Given the description of an element on the screen output the (x, y) to click on. 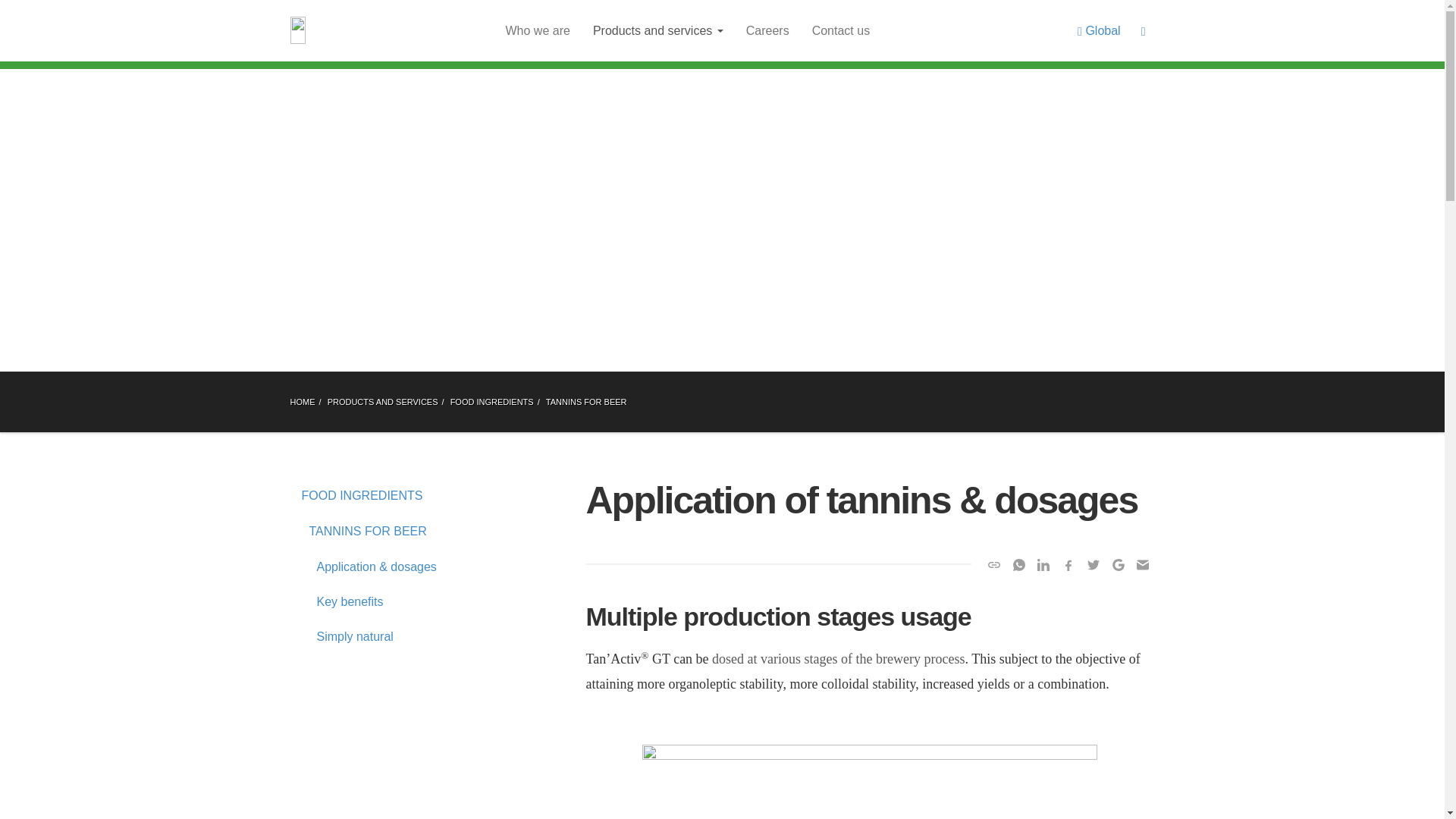
Link copied! (994, 564)
The Silvateam world (537, 30)
Key benefits of tannins in beers (389, 601)
Contact us (840, 30)
Tannins are simply natural (389, 636)
FOOD INGREDIENTS (491, 401)
TANNINS FOR BEER (389, 530)
Key benefits (389, 601)
PRODUCTS AND SERVICES (382, 401)
